Given the description of an element on the screen output the (x, y) to click on. 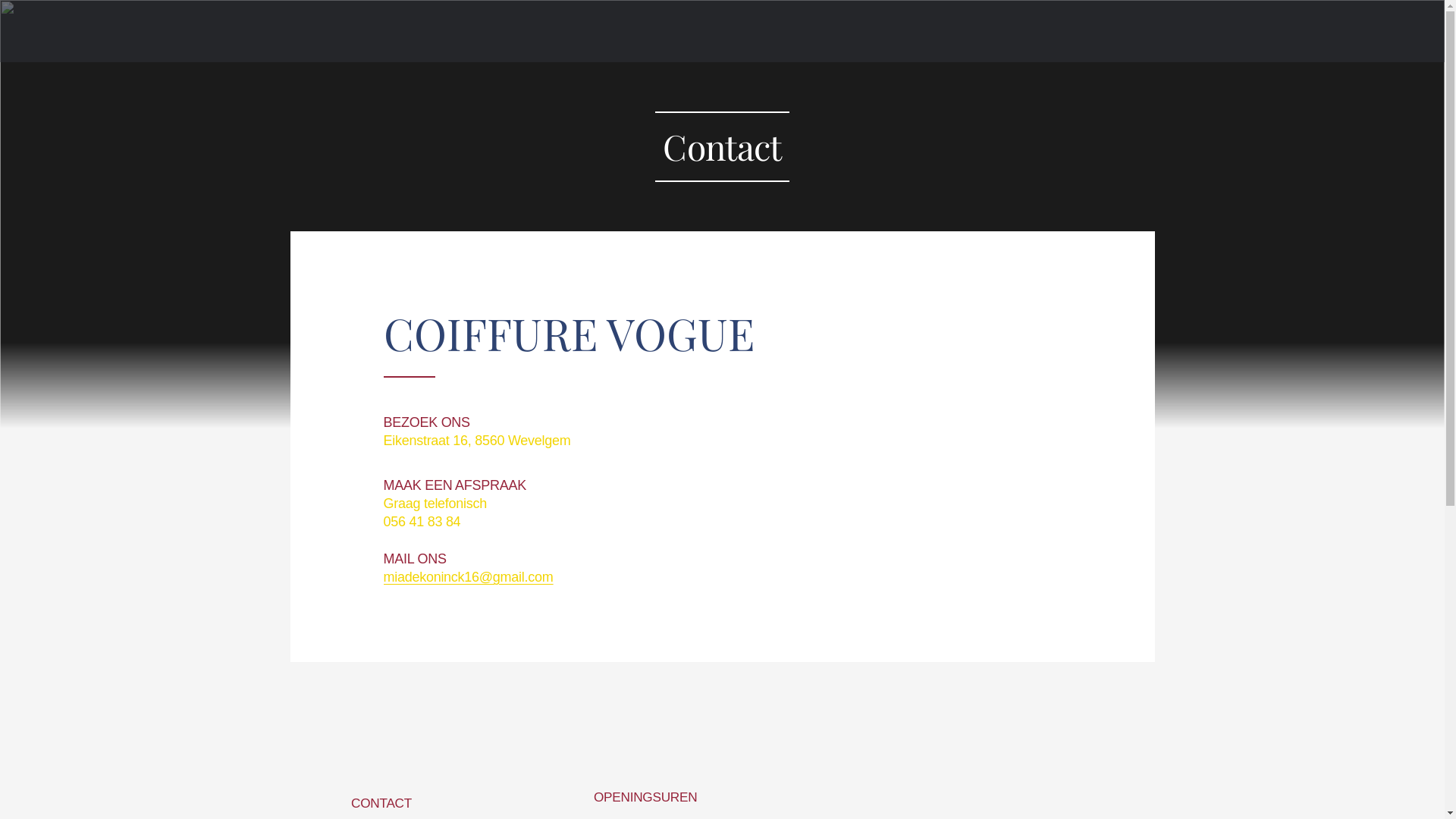
miadekoninck16@gmail.com Element type: text (467, 576)
